Given the description of an element on the screen output the (x, y) to click on. 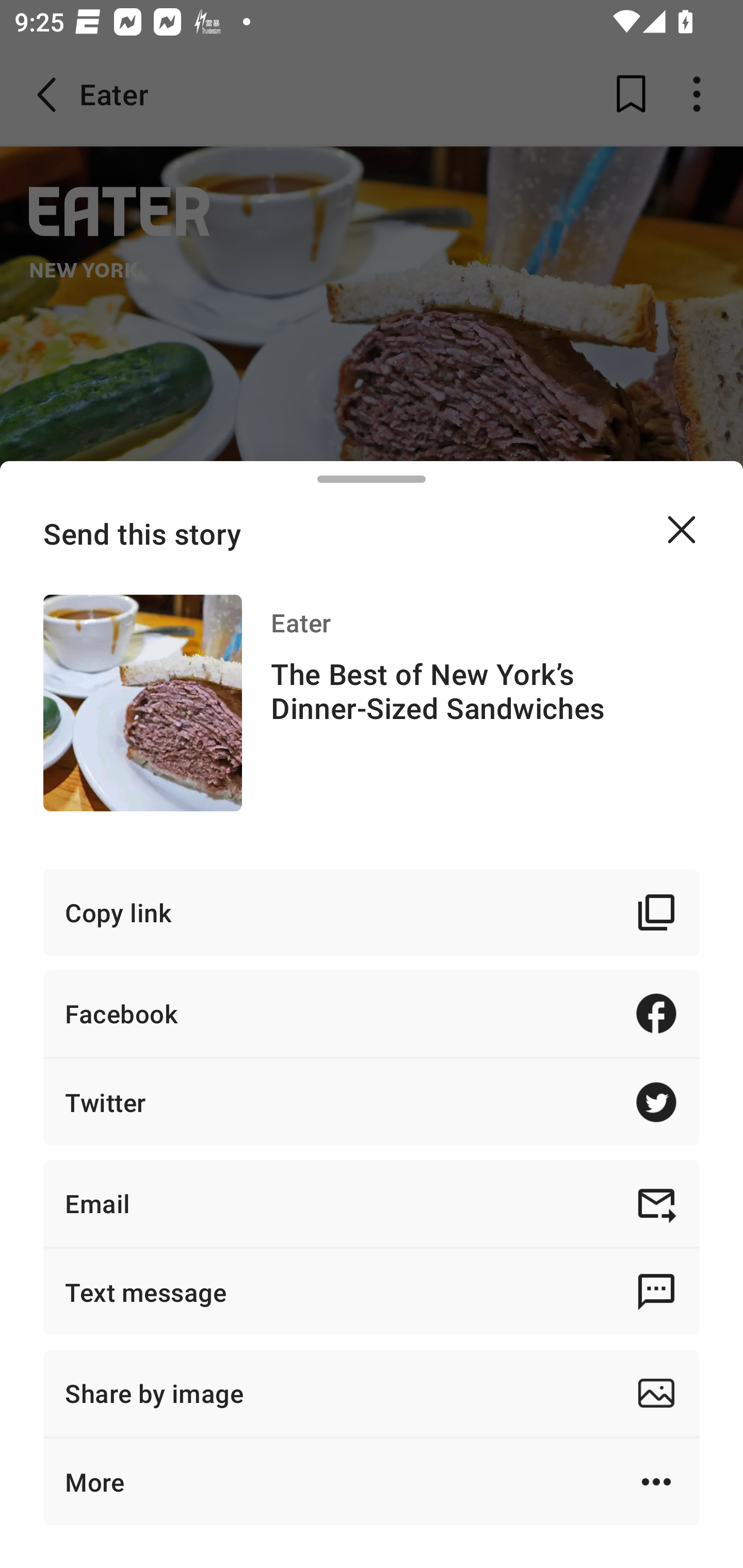
Copy link (371, 912)
Facebook (371, 1013)
Twitter (371, 1102)
Email (371, 1203)
Text message (371, 1291)
Share by image (371, 1393)
More (371, 1481)
